Given the description of an element on the screen output the (x, y) to click on. 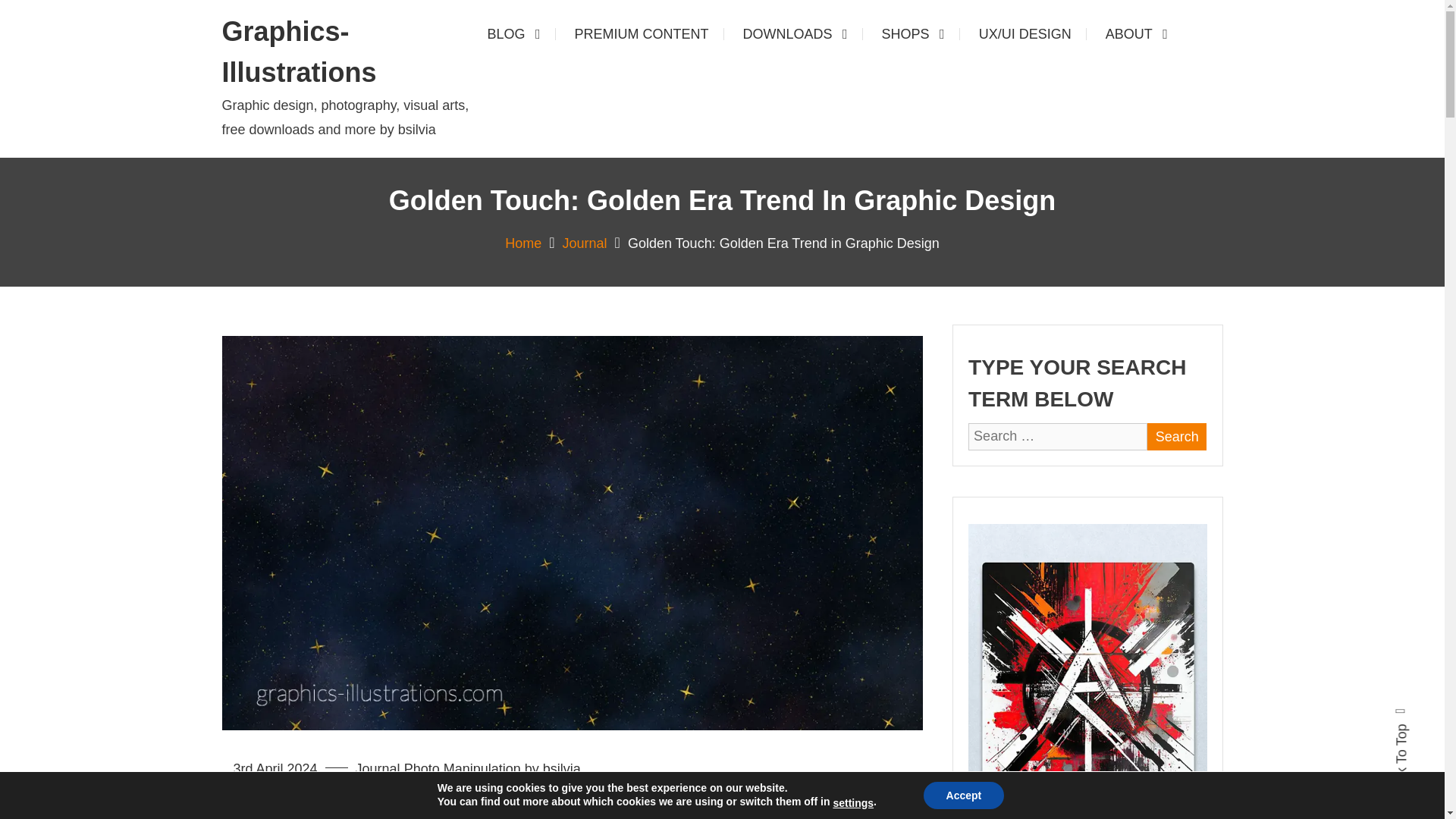
Journal (377, 768)
Photo Manipulation (462, 768)
Search (1177, 436)
bsilvia (561, 768)
ABOUT (1136, 33)
Shops (912, 33)
DOWNLOADS (795, 33)
Graphics-Illustrations (298, 51)
PREMIUM CONTENT (641, 33)
Journal (584, 242)
BLOG (512, 33)
Premium Content (641, 33)
Home (523, 242)
Blog (512, 33)
Search (1177, 436)
